Given the description of an element on the screen output the (x, y) to click on. 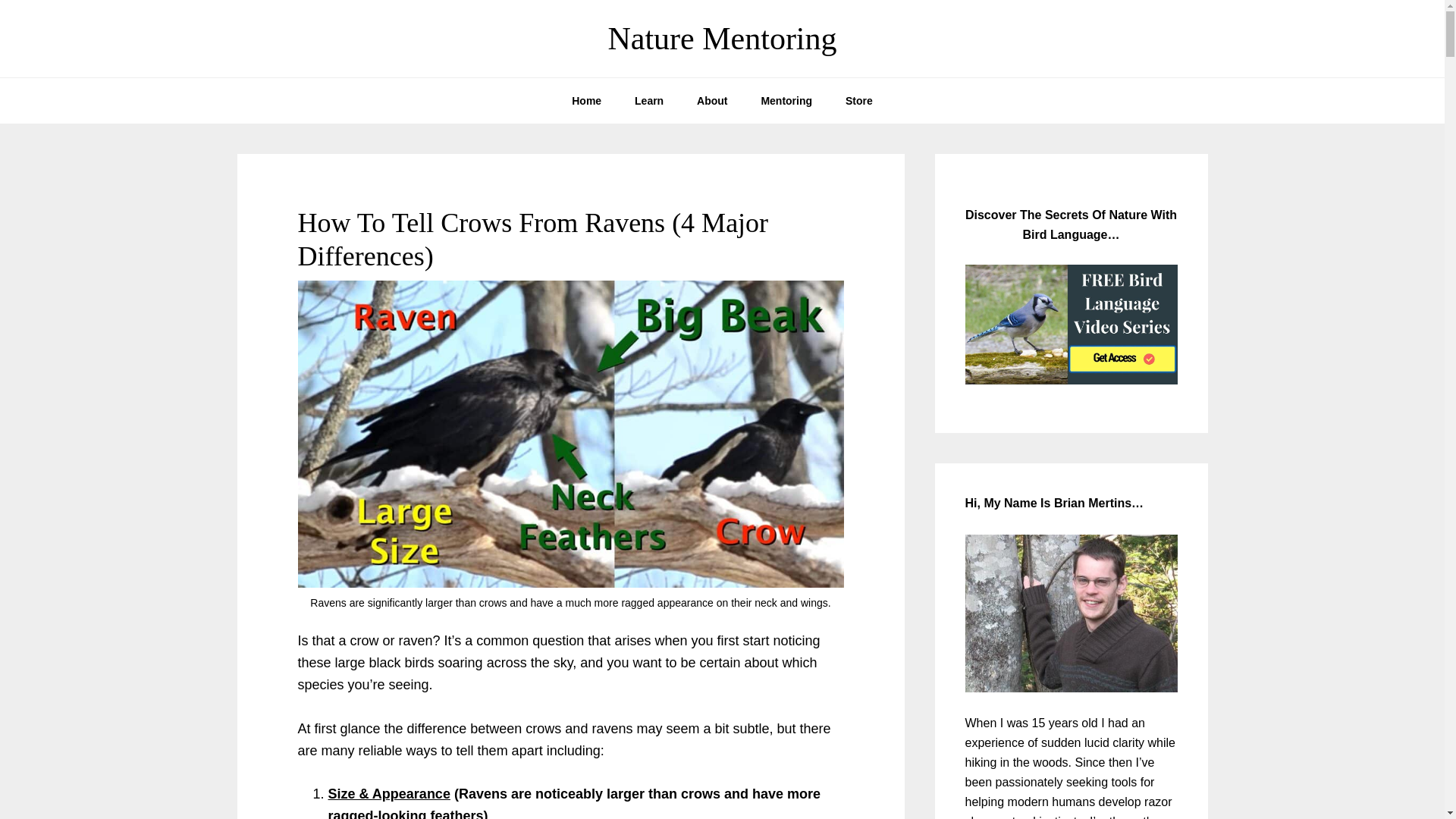
Mentoring (786, 100)
Learn (649, 100)
Nature Mentoring (721, 38)
Store (858, 100)
Home (585, 100)
About (711, 100)
